Given the description of an element on the screen output the (x, y) to click on. 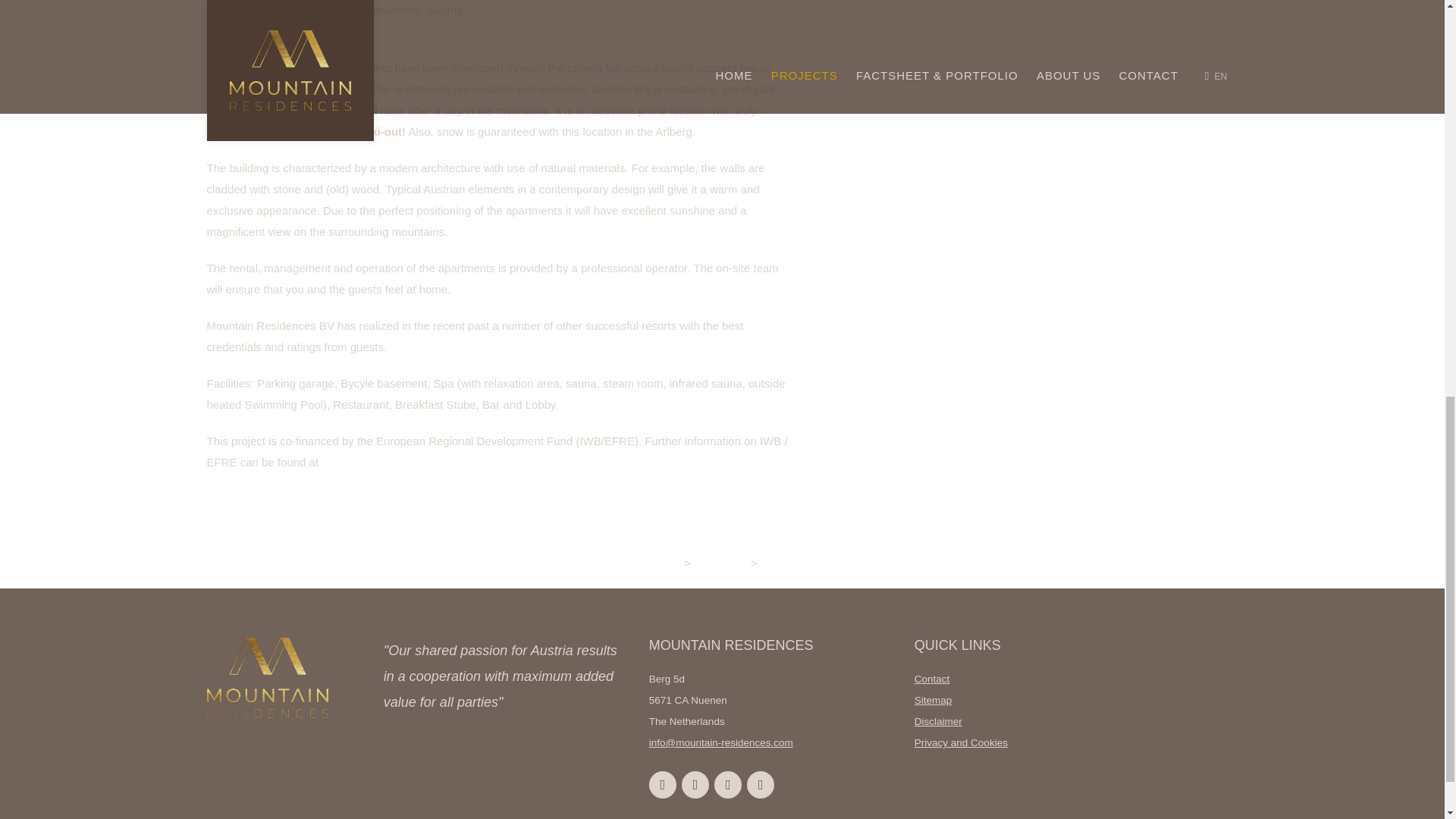
Mountain Residences (620, 562)
Resort Warth - Arlberg (823, 562)
Disclaimer (938, 721)
Contact (932, 678)
Projects (722, 562)
Privacy and Cookies (960, 742)
Sitemap (933, 699)
www.efre.gv.at (357, 461)
